Given the description of an element on the screen output the (x, y) to click on. 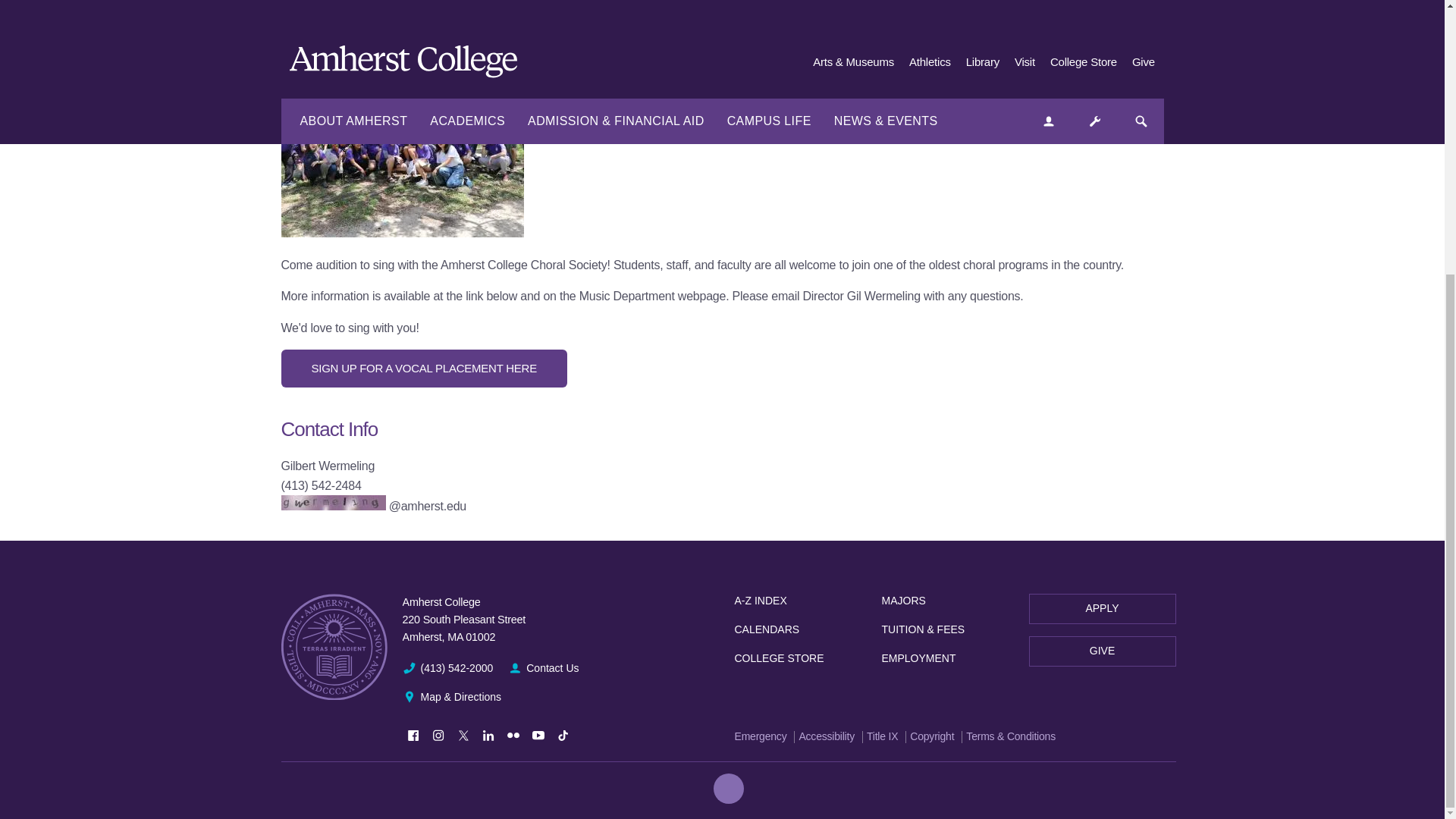
Choral Society on tour in New Orleans! (401, 118)
